Given the description of an element on the screen output the (x, y) to click on. 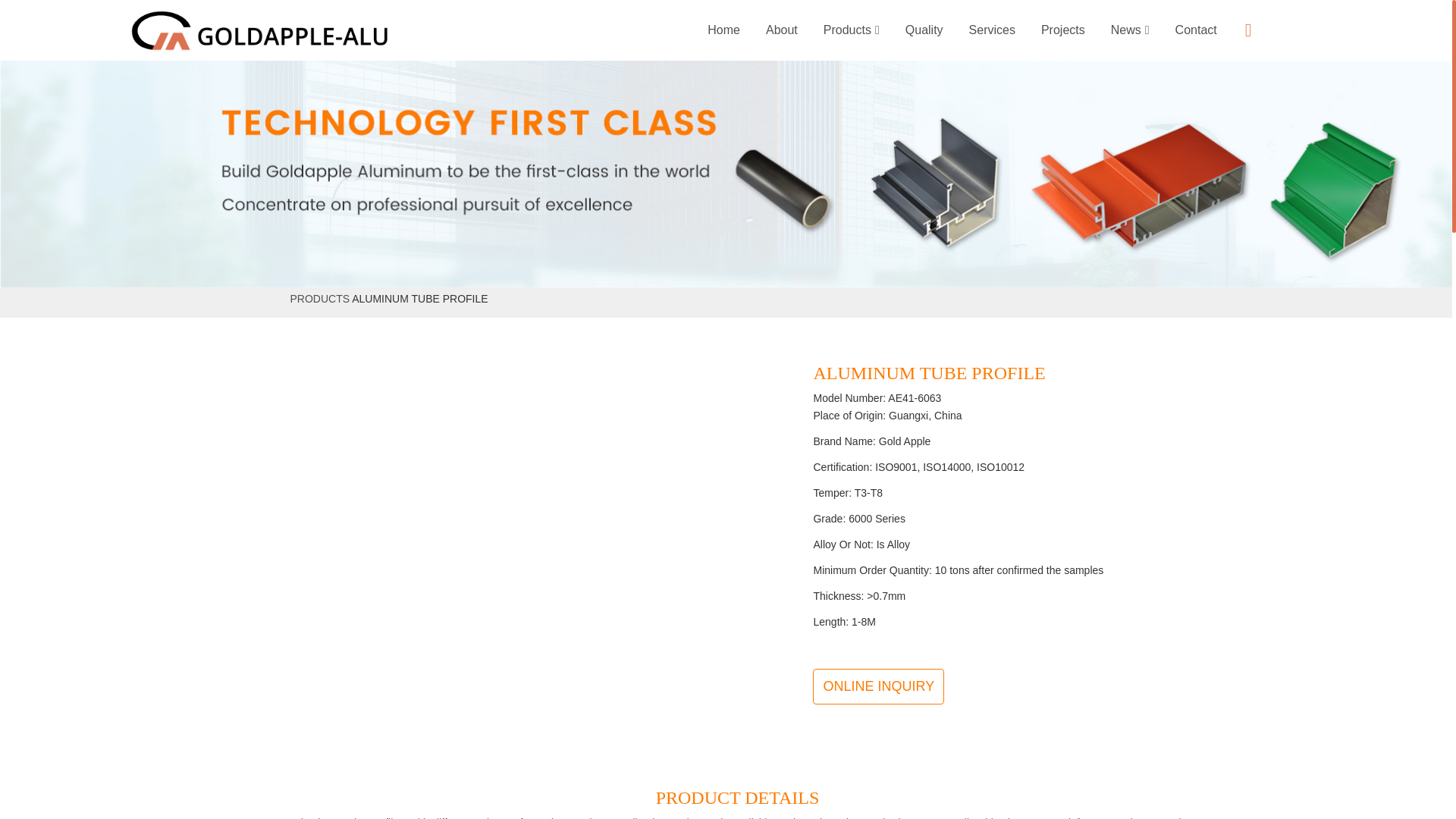
Quality (924, 30)
Home (723, 30)
Projects (1062, 30)
About (781, 30)
PRODUCTS (319, 298)
ONLINE INQUIRY (877, 687)
Services (991, 30)
Contact (1195, 30)
